Given the description of an element on the screen output the (x, y) to click on. 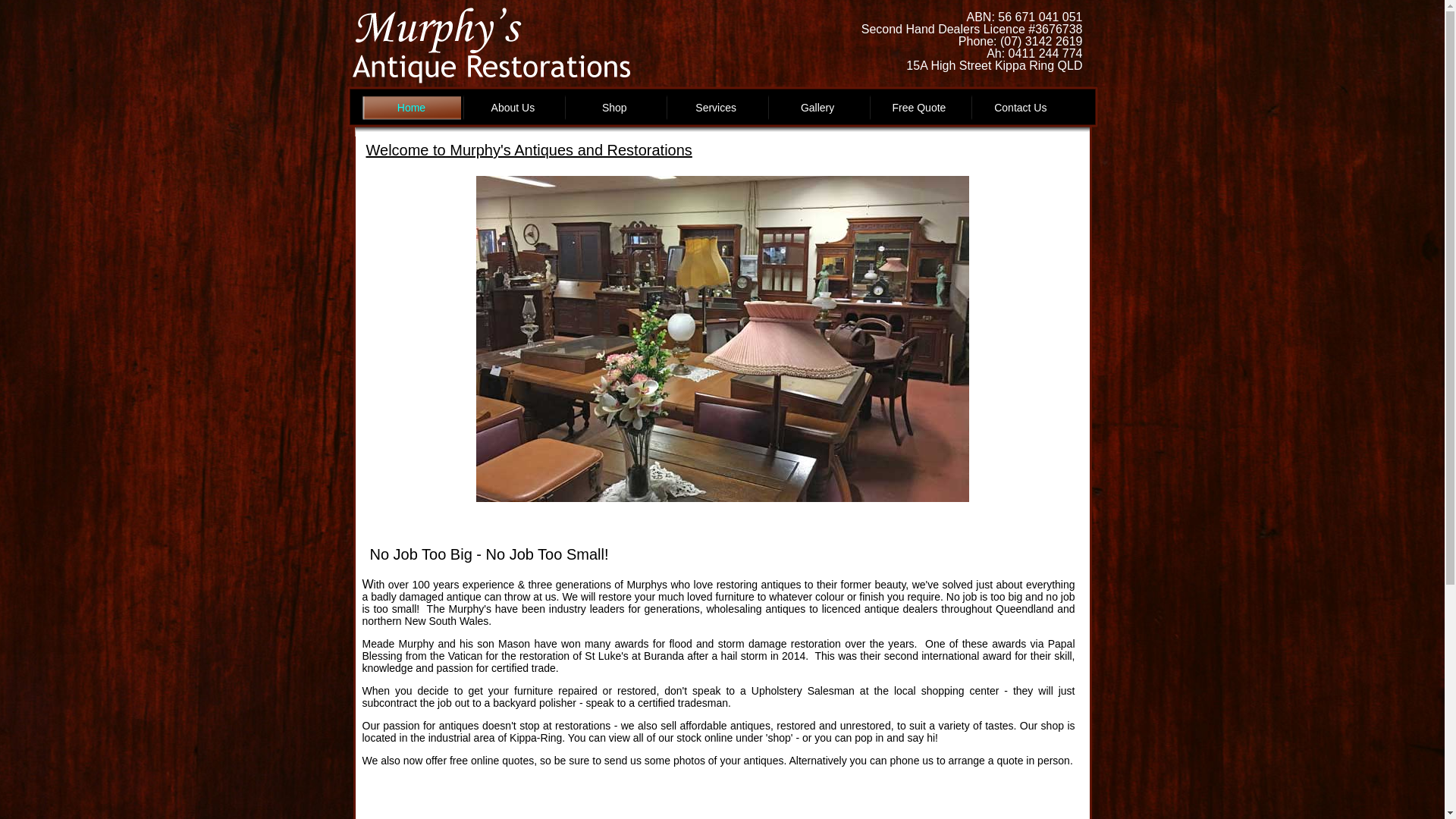
Contact Us Element type: text (1020, 109)
Services Element type: text (715, 109)
Home Element type: text (411, 109)
Free Quote Element type: text (918, 109)
Gallery Element type: text (817, 109)
About Us Element type: text (512, 109)
Shop Element type: text (613, 109)
